Given the description of an element on the screen output the (x, y) to click on. 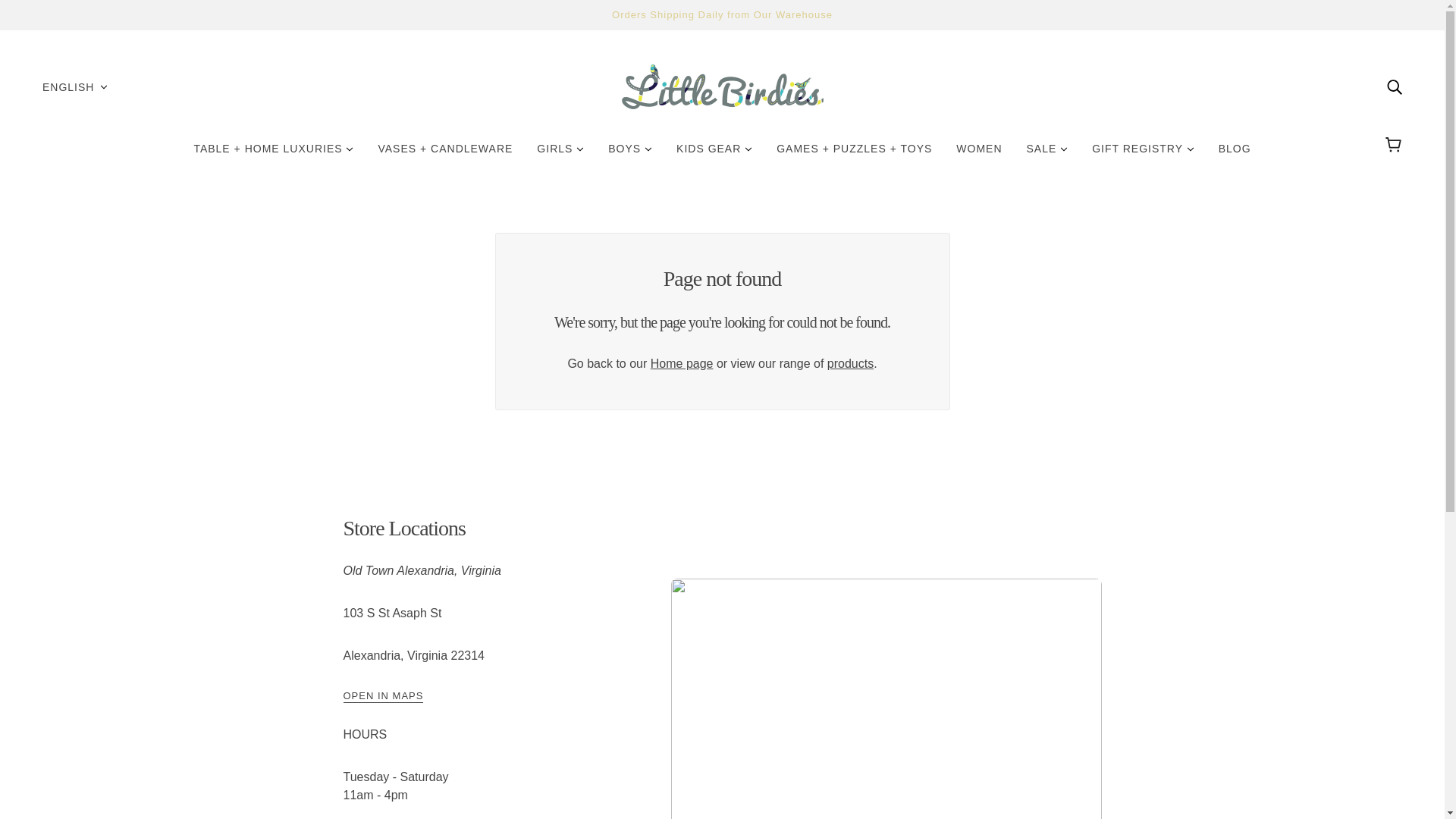
ENGLISH (74, 86)
KIDS GEAR (713, 154)
Little Birdies  (722, 86)
GIRLS (559, 154)
BOYS (629, 154)
